Given the description of an element on the screen output the (x, y) to click on. 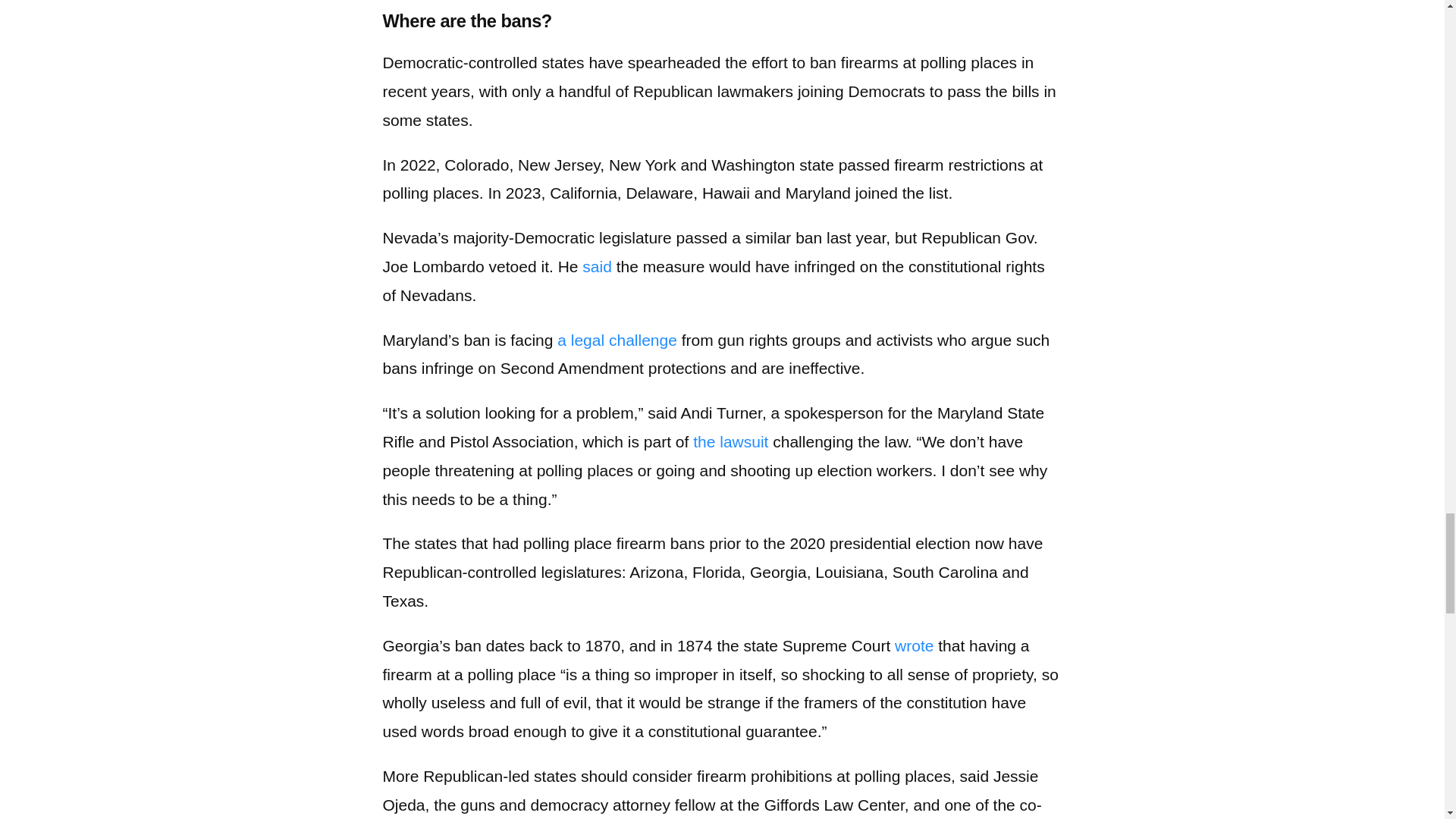
the lawsuit (730, 441)
said (596, 266)
wrote (914, 645)
a legal challenge (617, 339)
